Given the description of an element on the screen output the (x, y) to click on. 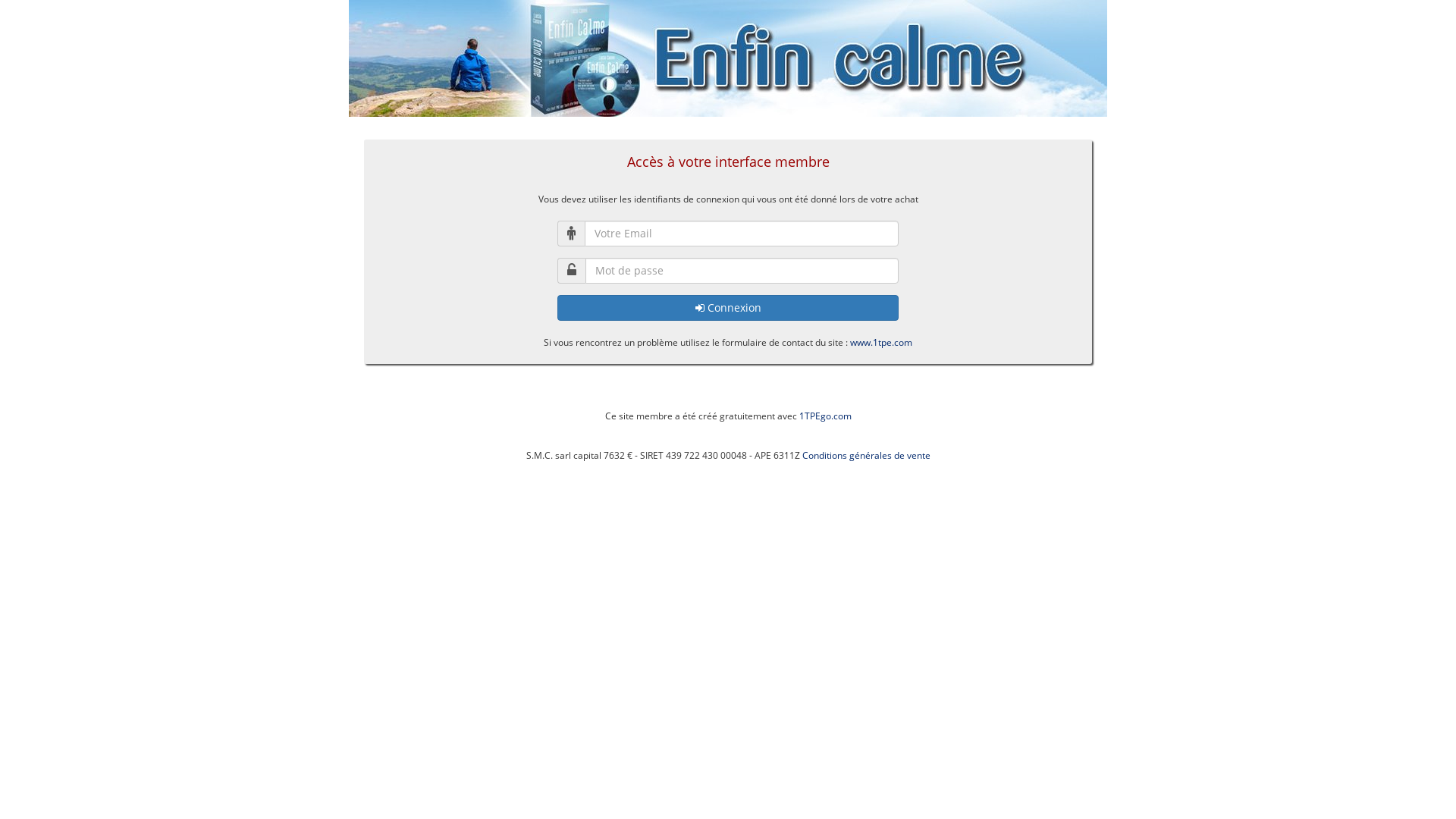
Connexion Element type: text (727, 307)
www.1tpe.com Element type: text (881, 341)
1TPEgo.com Element type: text (825, 415)
